Given the description of an element on the screen output the (x, y) to click on. 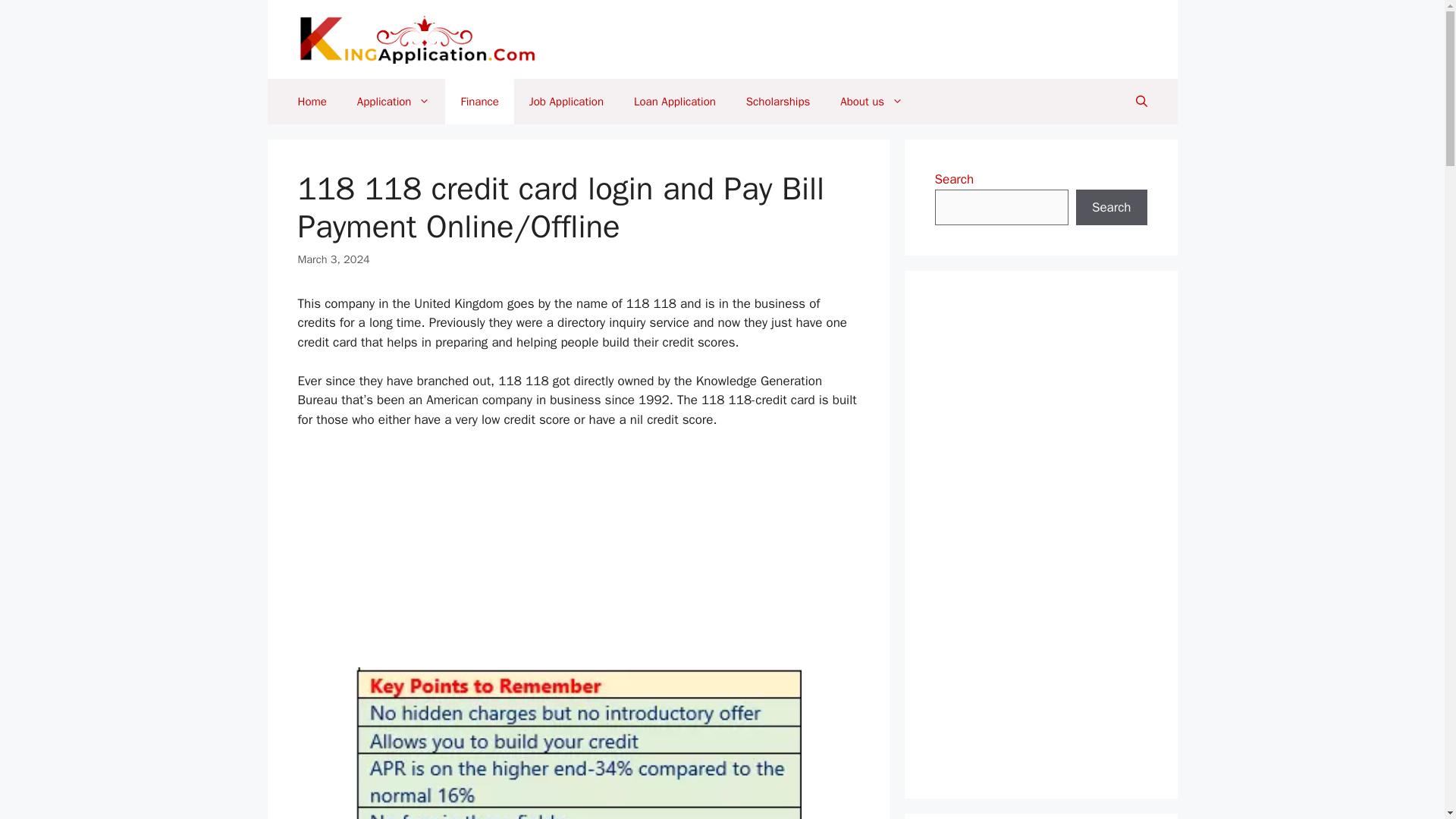
Home (311, 101)
Advertisement (578, 554)
Loan Application (674, 101)
Search (1111, 207)
Application (393, 101)
Job Application (565, 101)
Finance (479, 101)
About us (871, 101)
Scholarships (777, 101)
